Given the description of an element on the screen output the (x, y) to click on. 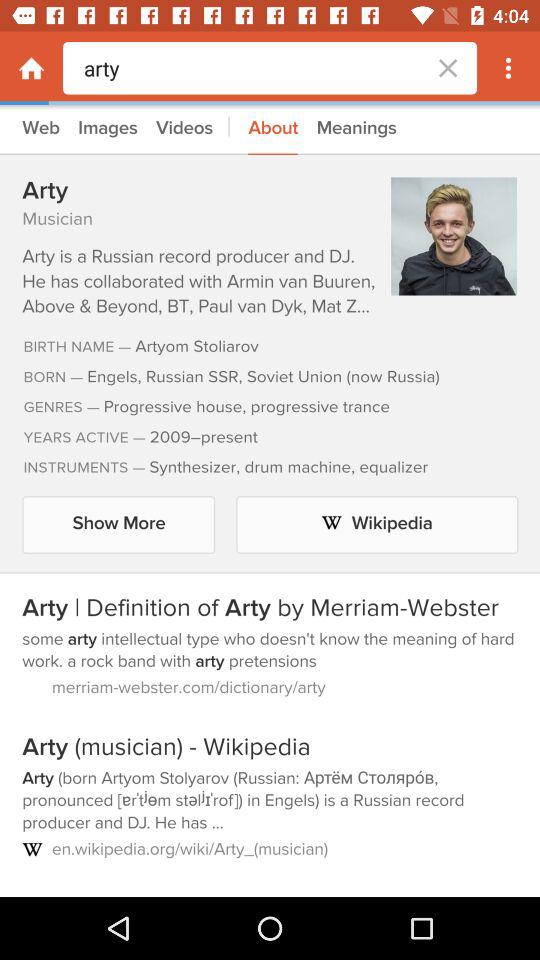
menu icon (508, 68)
